Given the description of an element on the screen output the (x, y) to click on. 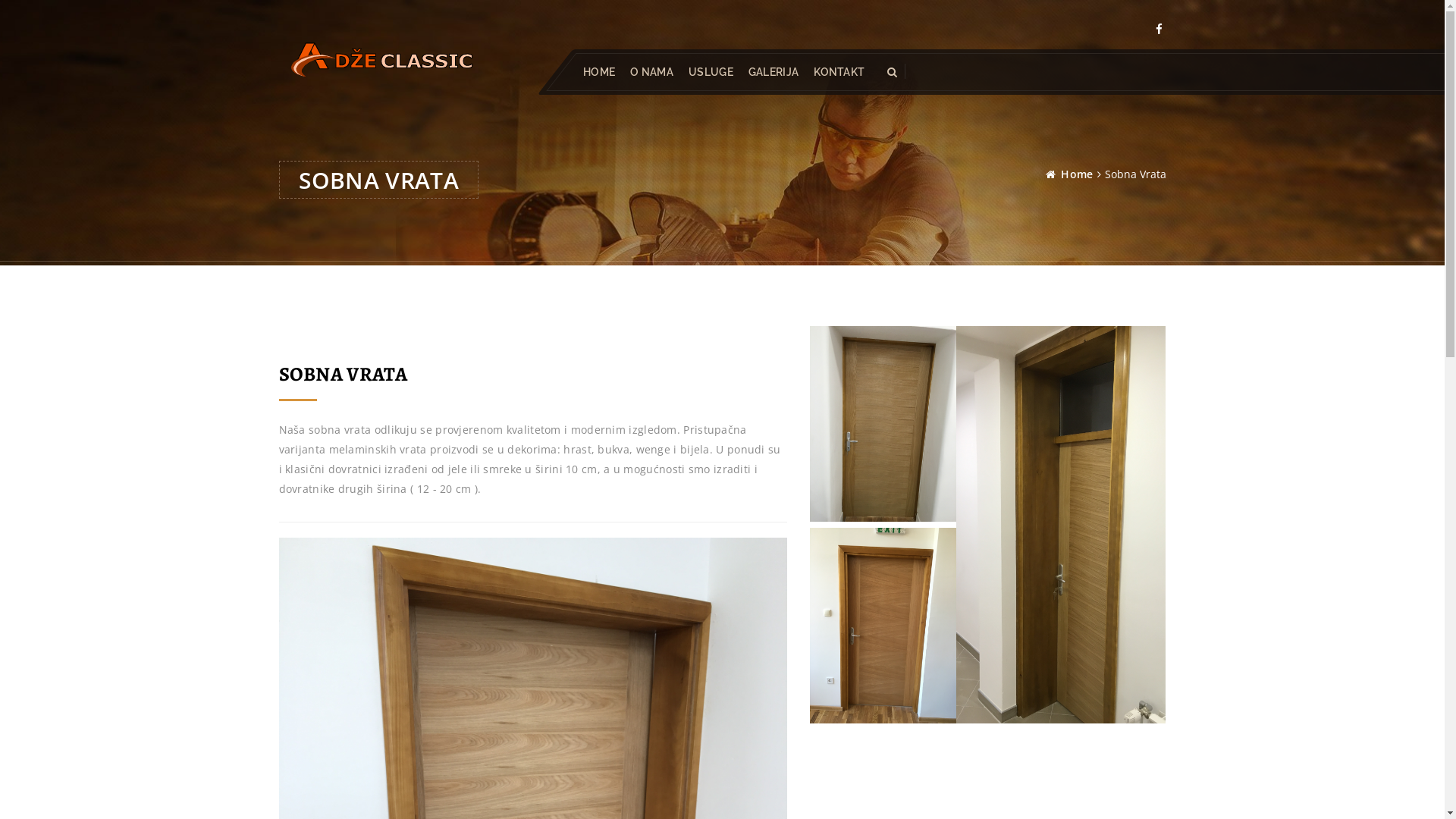
HOME Element type: text (597, 71)
GALERIJA Element type: text (772, 71)
KONTAKT Element type: text (839, 71)
O NAMA Element type: text (651, 71)
Facebook Element type: hover (1158, 28)
Home Element type: text (1076, 173)
USLUGE Element type: text (710, 71)
